Given the description of an element on the screen output the (x, y) to click on. 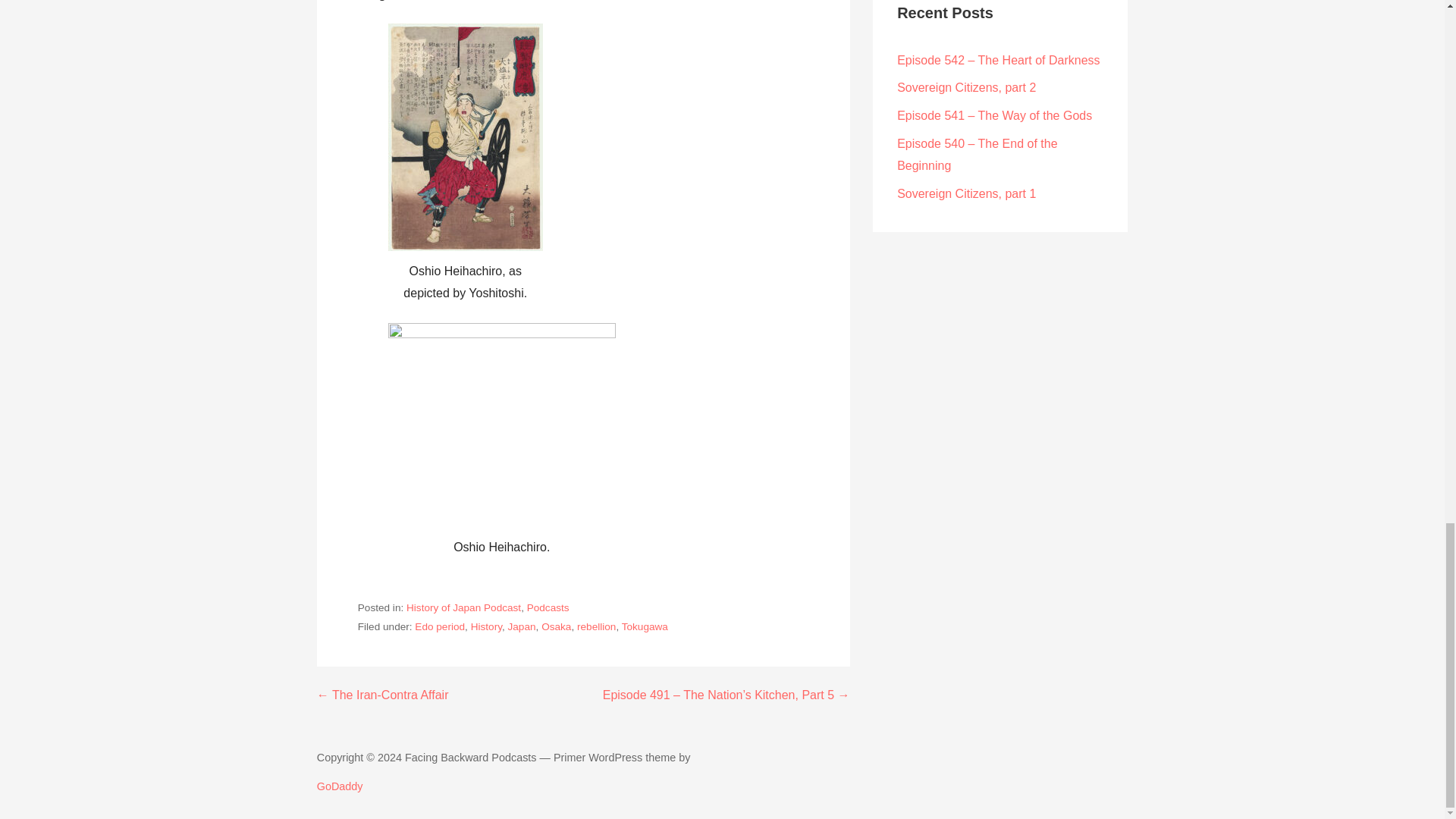
Tokugawa (644, 626)
Edo period (439, 626)
History of Japan Podcast (463, 607)
rebellion (595, 626)
Osaka (555, 626)
Japan (521, 626)
Podcasts (548, 607)
GoDaddy (339, 786)
Sovereign Citizens, part 1 (965, 193)
Sovereign Citizens, part 2 (965, 87)
